Given the description of an element on the screen output the (x, y) to click on. 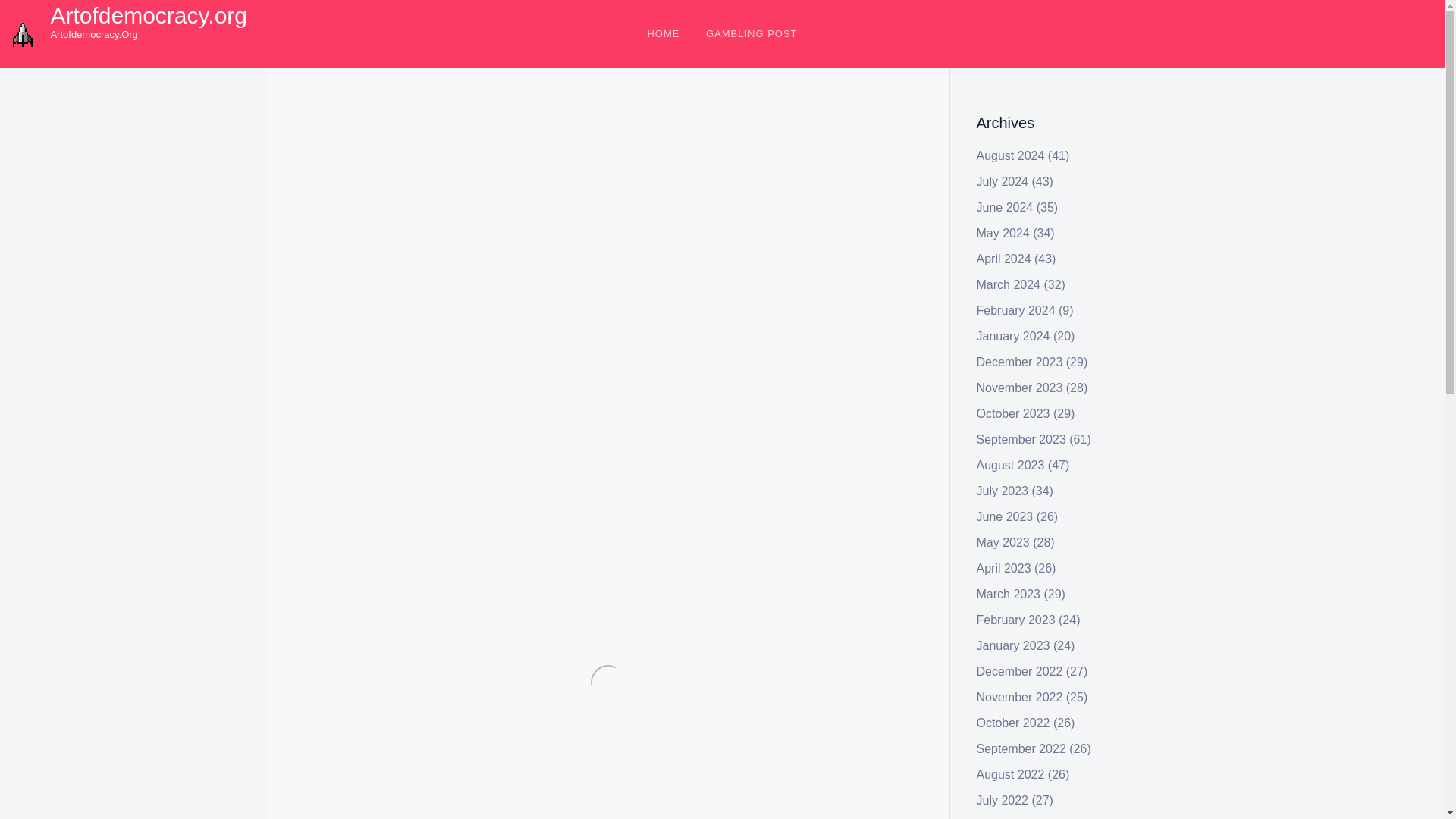
June 2023 (1004, 516)
April 2024 (1003, 258)
GAMBLING POST (751, 33)
December 2022 (1019, 671)
October 2023 (1012, 413)
January 2023 (1012, 645)
August 2023 (1010, 464)
Artofdemocracy.org (148, 15)
February 2024 (1015, 309)
January 2024 (1012, 336)
